Given the description of an element on the screen output the (x, y) to click on. 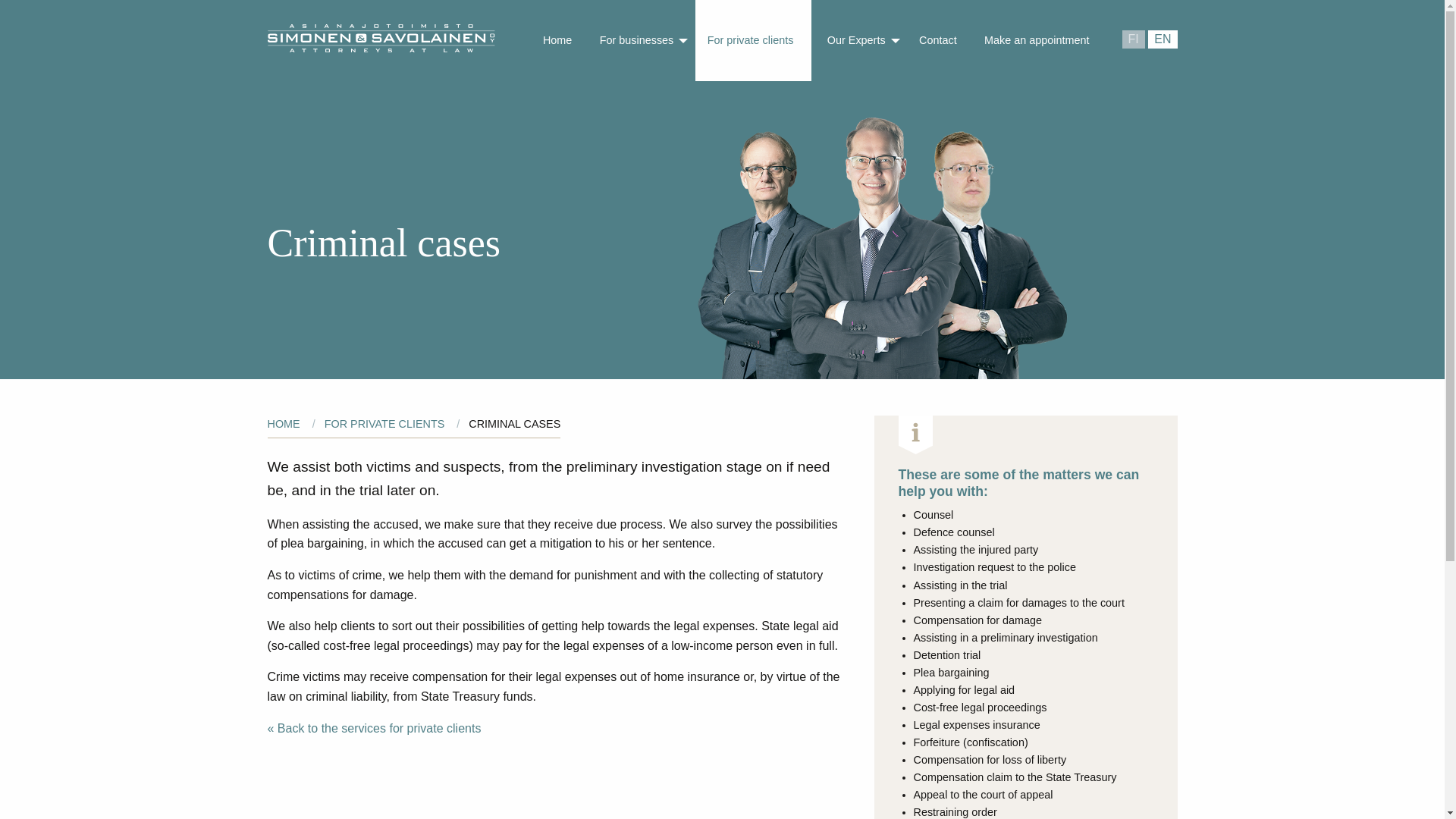
For private clients (753, 40)
For businesses (640, 40)
FOR PRIVATE CLIENTS (384, 423)
Our Experts (859, 40)
Make an appointment (1036, 40)
FI (1133, 39)
HOME (282, 423)
EN (1162, 39)
